Given the description of an element on the screen output the (x, y) to click on. 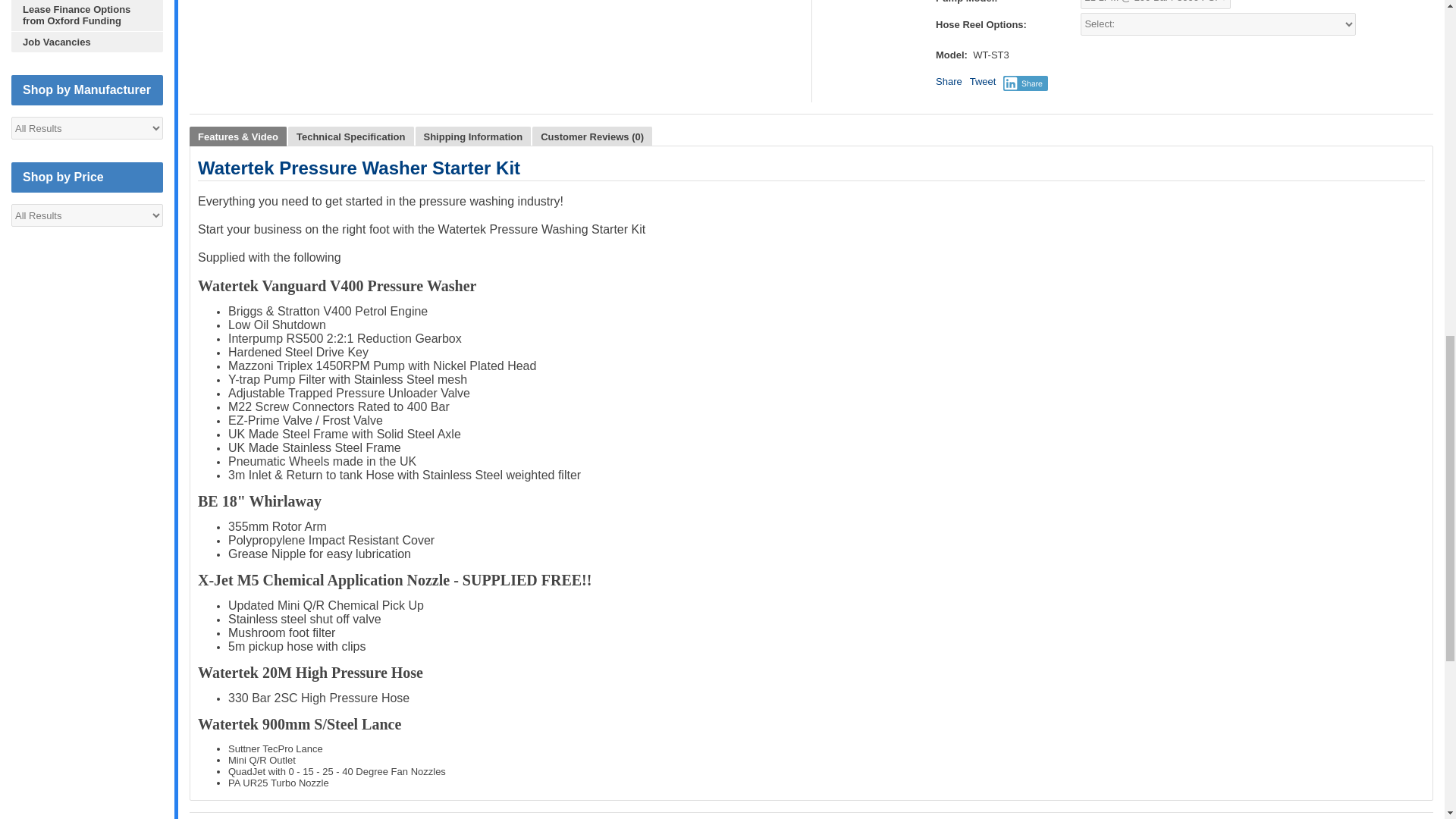
Tweet (982, 81)
Lease Finance Options from Oxford Funding (87, 15)
Technical Specification (350, 136)
Share (949, 81)
Share (1025, 83)
Job Vacancies (87, 41)
